Given the description of an element on the screen output the (x, y) to click on. 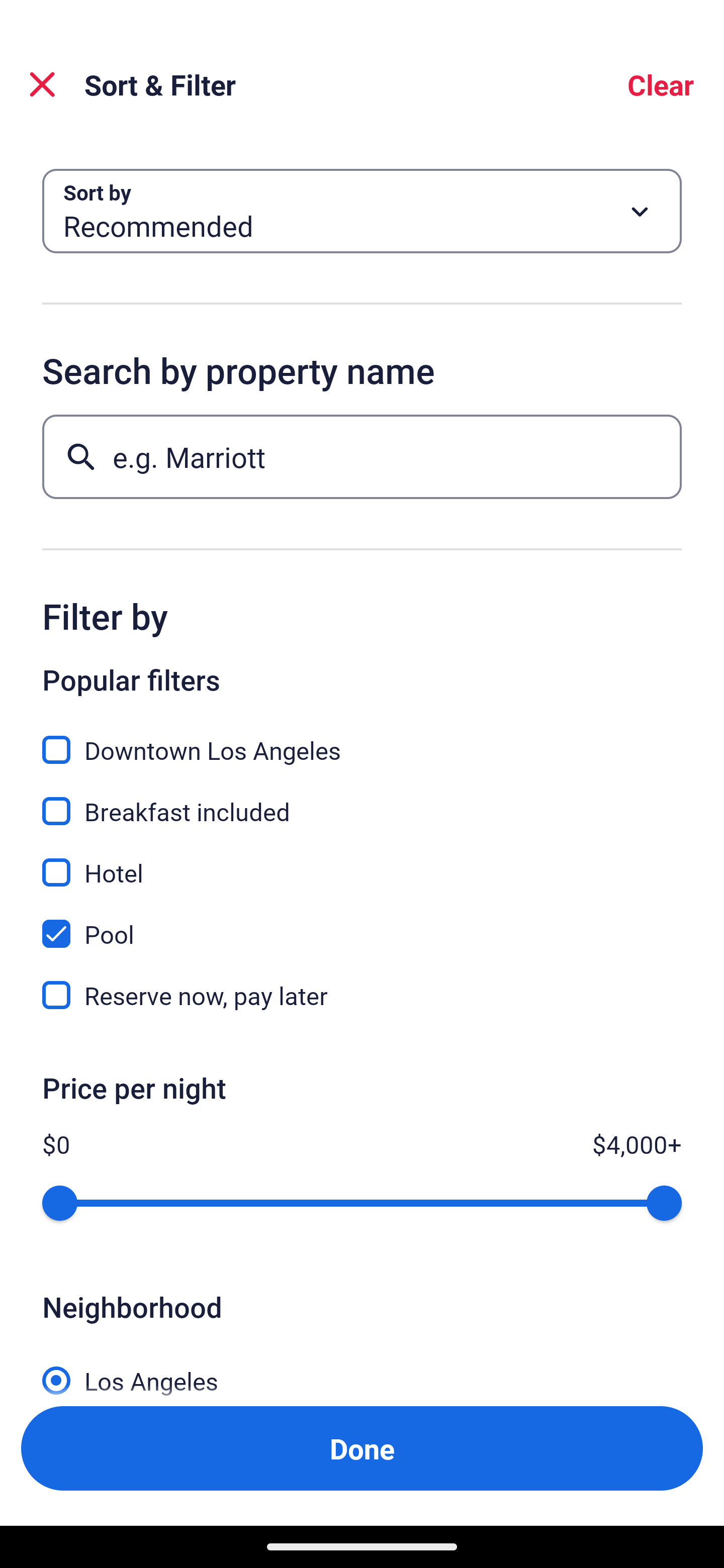
Close Sort and Filter (42, 84)
Clear (660, 84)
Sort by Button Recommended (361, 211)
e.g. Marriott Button (361, 455)
Downtown Los Angeles, Downtown Los Angeles (361, 738)
Breakfast included, Breakfast included (361, 800)
Hotel, Hotel (361, 861)
Pool, Pool (361, 922)
Reserve now, pay later, Reserve now, pay later (361, 995)
Apply and close Sort and Filter Done (361, 1448)
